Given the description of an element on the screen output the (x, y) to click on. 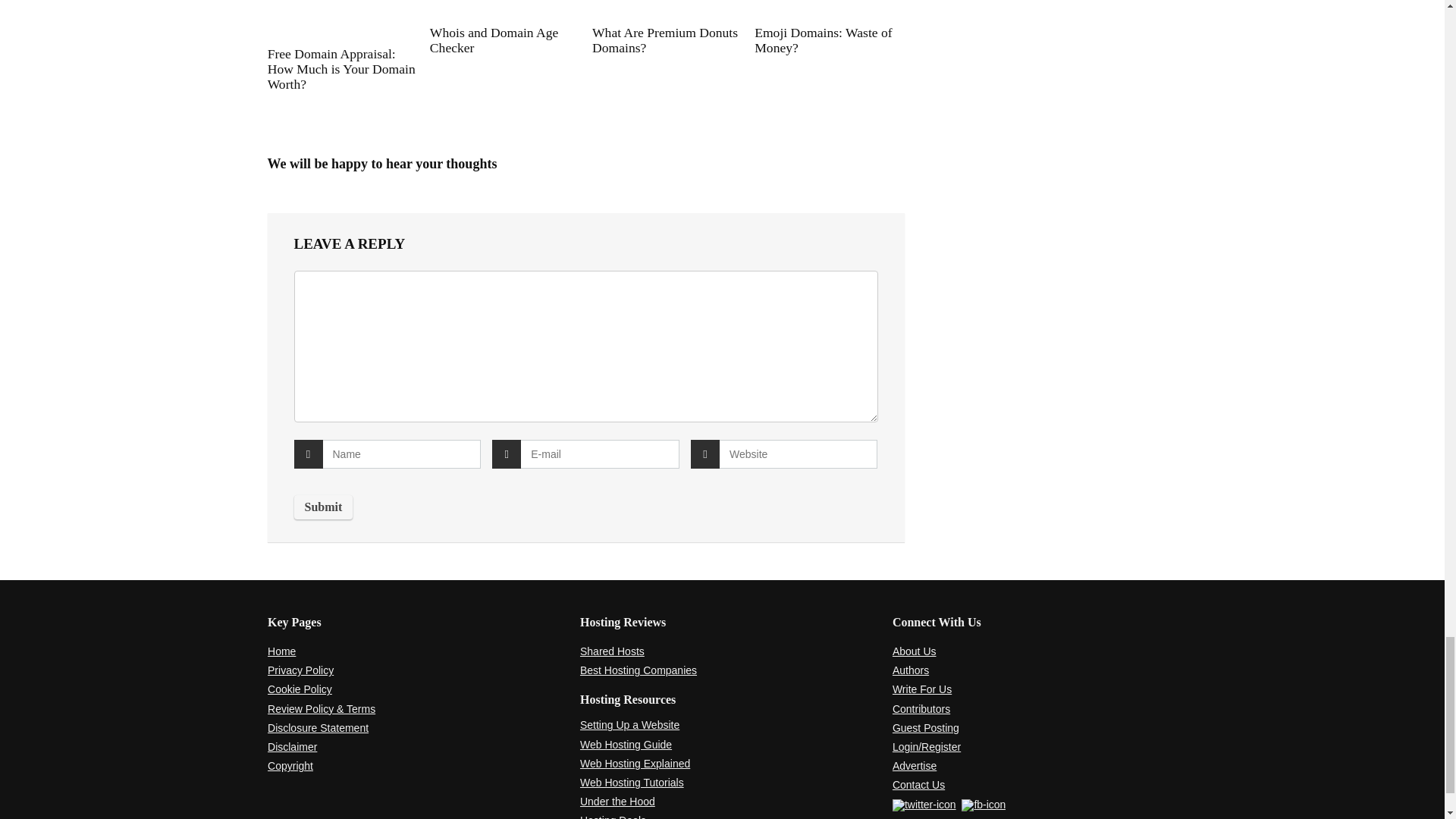
Submit (323, 507)
Whois and Domain Age Checker (494, 40)
Free Domain Appraisal: How Much is Your Domain Worth? (340, 68)
